Given the description of an element on the screen output the (x, y) to click on. 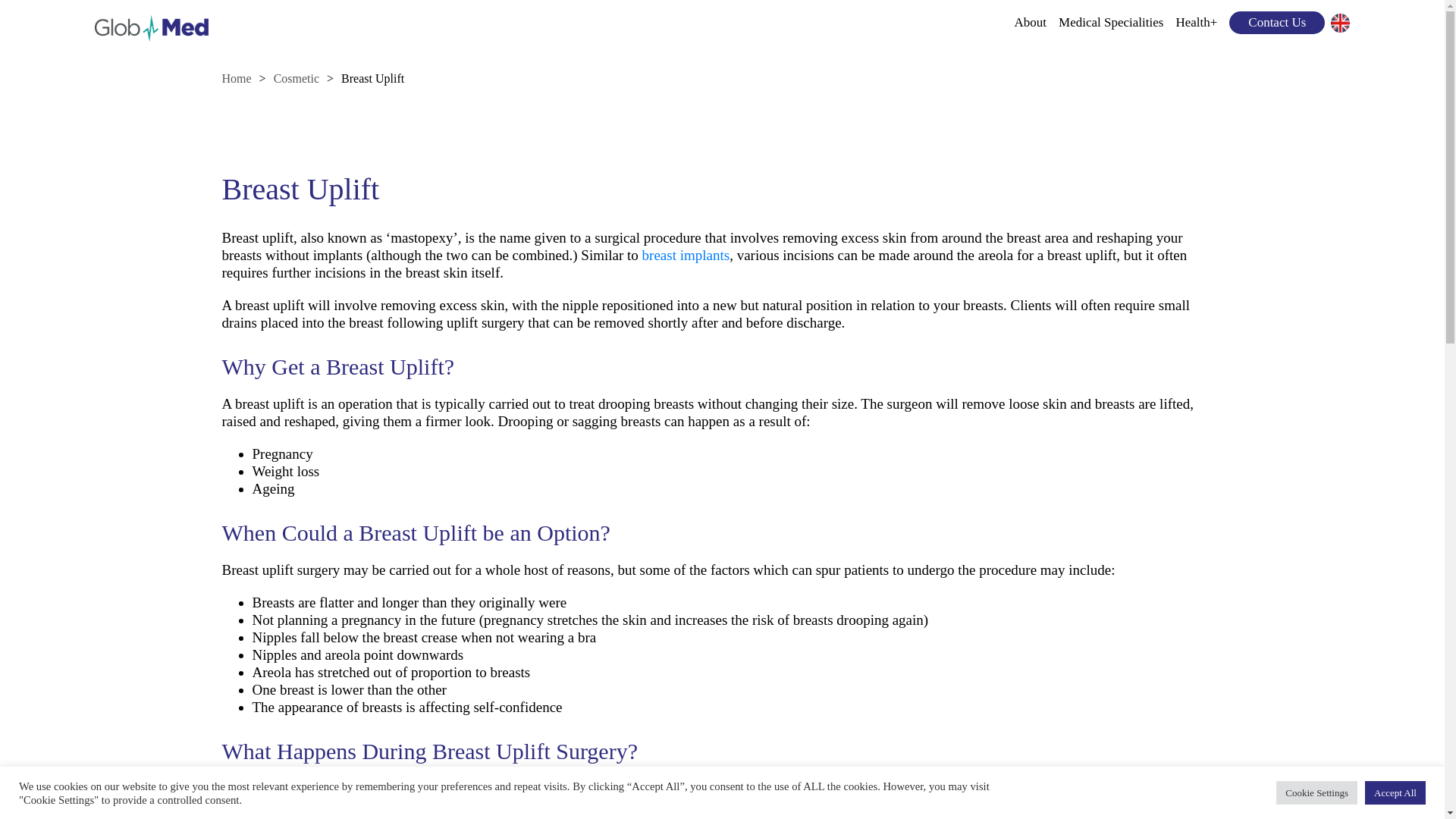
Cosmetic (295, 78)
About (1030, 22)
Home (235, 78)
Medical Specialities (1110, 22)
Contact Us (1276, 22)
Cookie Settings (1316, 792)
Cosmetic (295, 78)
breast implants (686, 254)
